Given the description of an element on the screen output the (x, y) to click on. 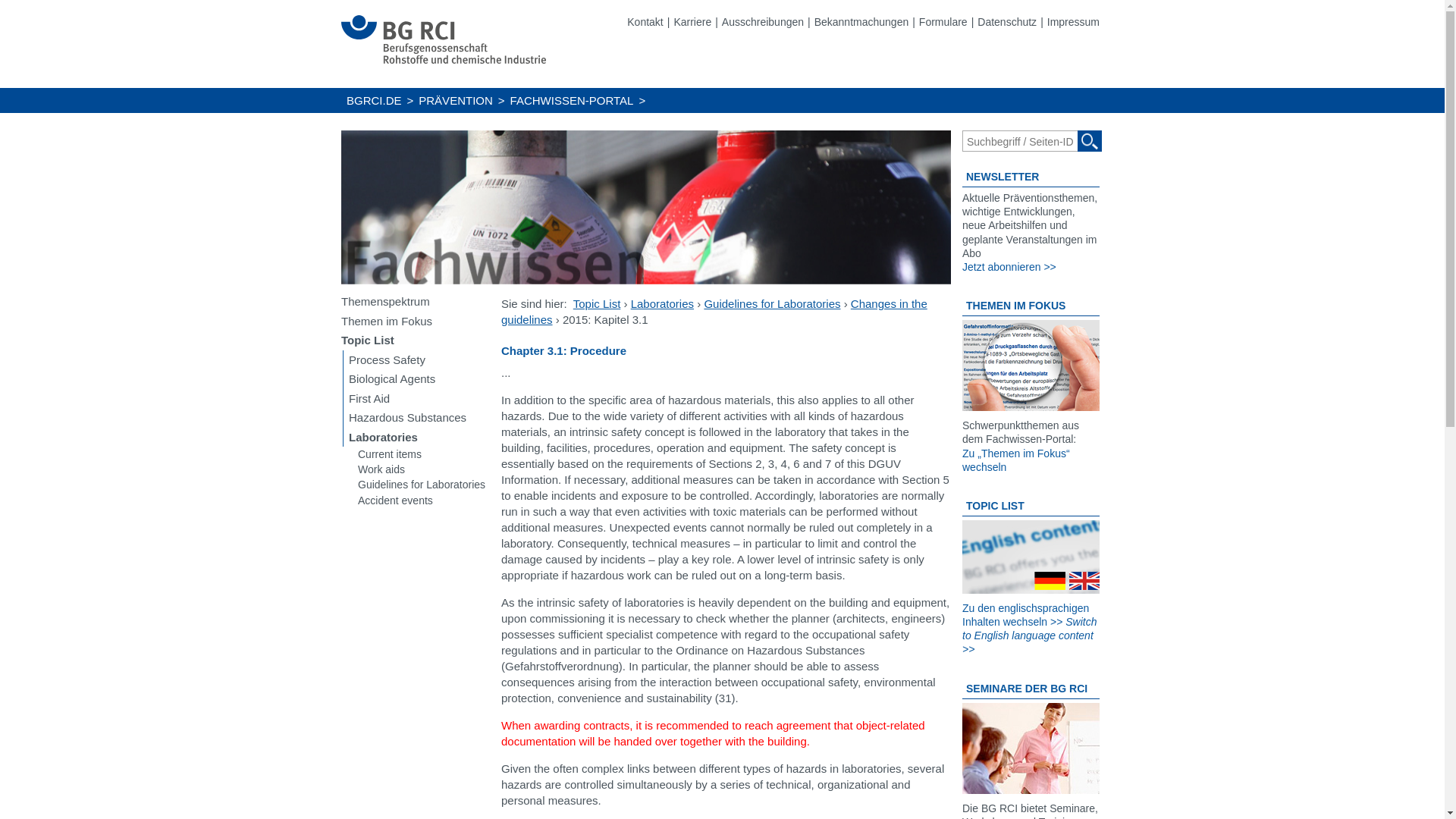
Topic List (597, 303)
Changes in the guidelines (713, 311)
Karriere (691, 21)
BGRCI.DE (373, 100)
Formulare (943, 21)
Guidelines for Laboratories (771, 303)
FACHWISSEN-PORTAL (572, 100)
Ausschreibungen (762, 21)
Accident events (421, 500)
Themenspektrum (416, 301)
Themen im Fokus (416, 320)
Karriere (691, 21)
Hazardous Substances (417, 417)
Bekanntmachungen (861, 21)
